Given the description of an element on the screen output the (x, y) to click on. 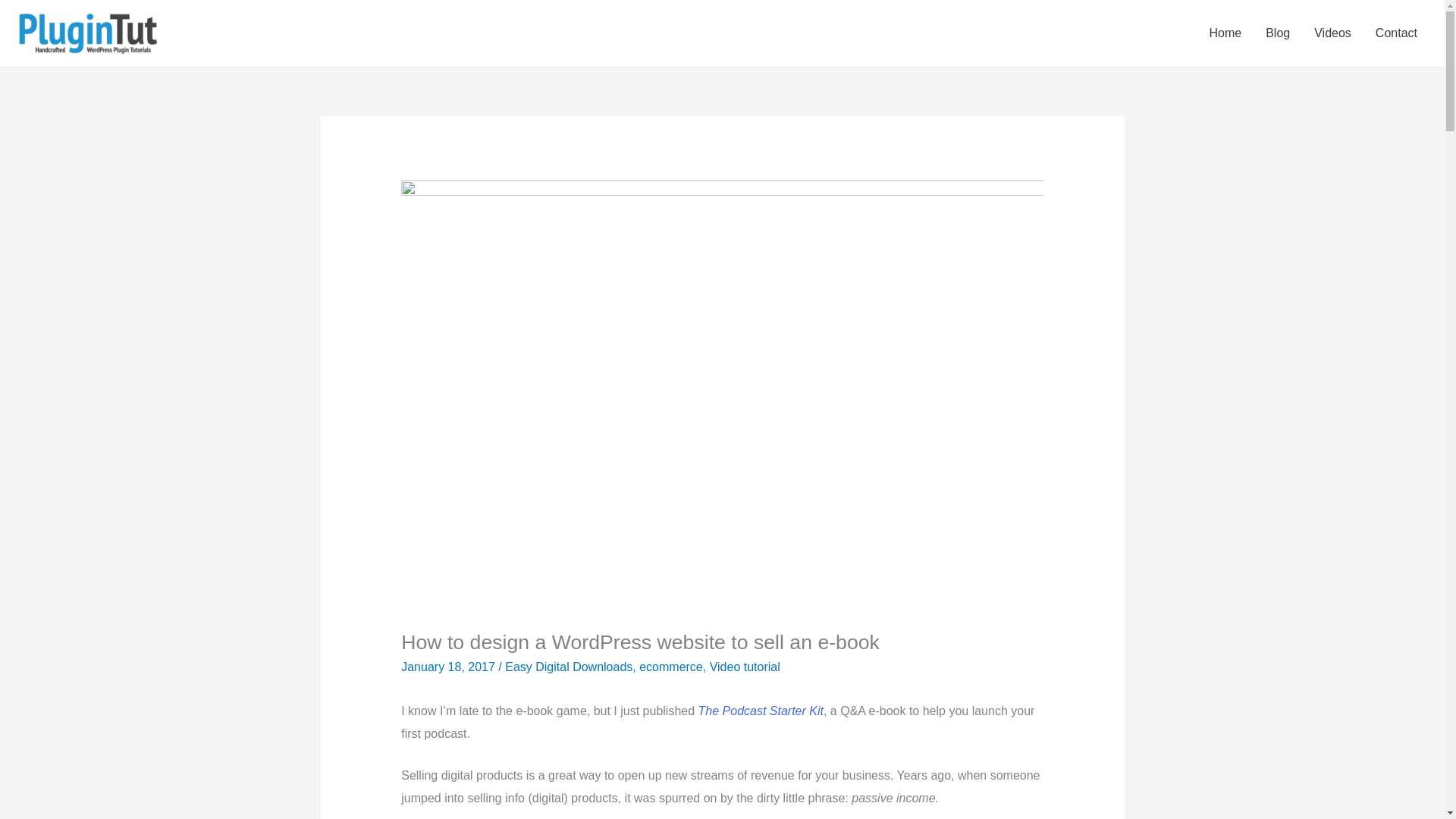
ecommerce (671, 666)
Contact (1395, 33)
Home (1224, 33)
Videos (1331, 33)
Blog (1277, 33)
The Podcast Starter Kit (761, 710)
Video tutorial (745, 666)
Easy Digital Downloads (568, 666)
